Given the description of an element on the screen output the (x, y) to click on. 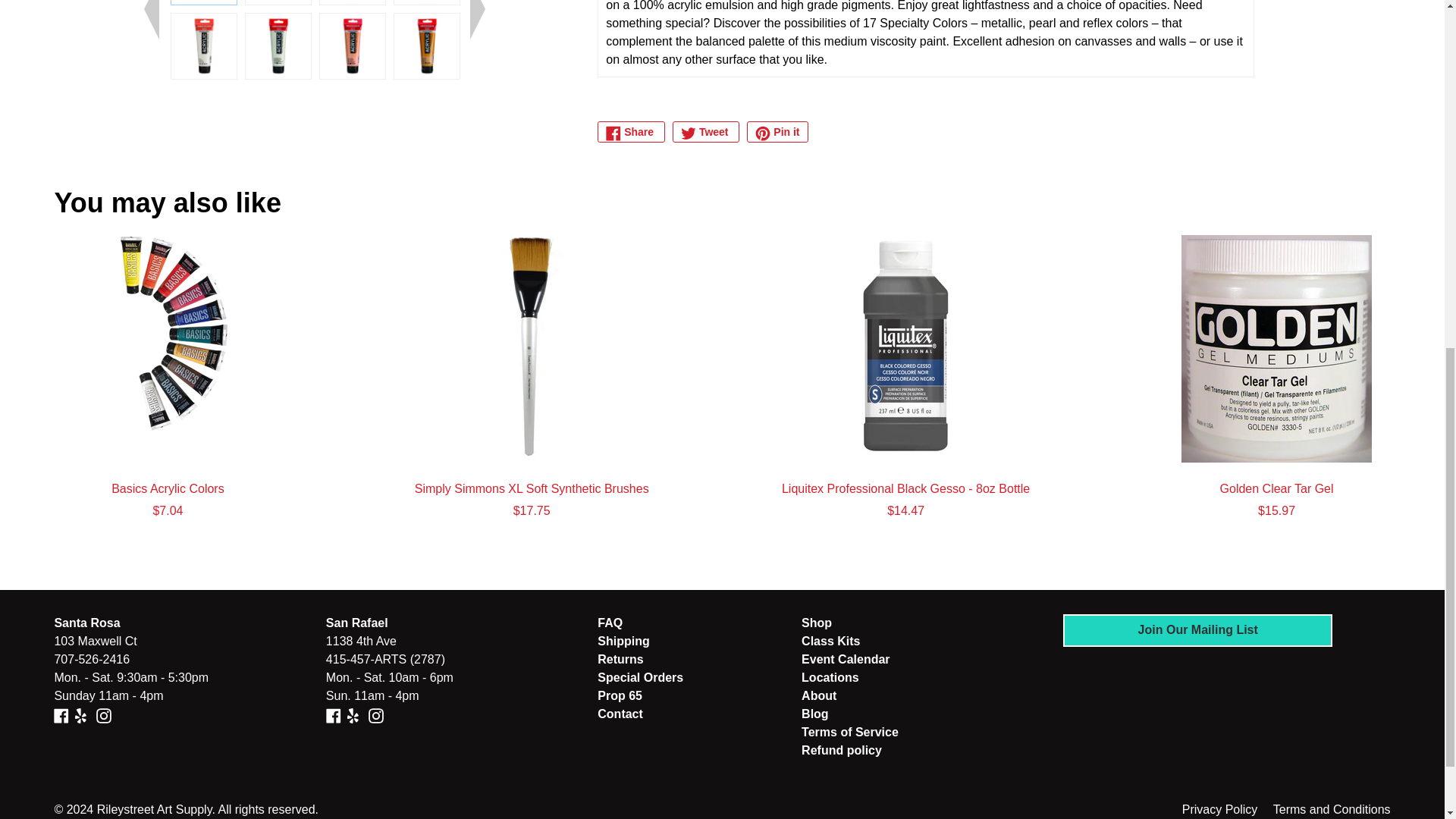
Amsterdam Standard Acrylics - 120ml Tubes (351, 46)
Amsterdam Standard Acrylics - 120ml Tubes (129, 46)
Amsterdam Standard Acrylics - 120ml Tubes (426, 2)
Amsterdam Standard Acrylics - 120ml Tubes (277, 46)
Amsterdam Standard Acrylics - 120ml Tubes (203, 2)
Amsterdam Standard Acrylics - 120ml Tubes (129, 2)
Amsterdam Standard Acrylics - 120ml Tubes (426, 46)
Amsterdam Standard Acrylics - 120ml Tubes (351, 2)
Amsterdam Standard Acrylics - 120ml Tubes (277, 2)
Amsterdam Standard Acrylics - 120ml Tubes (203, 46)
